Given the description of an element on the screen output the (x, y) to click on. 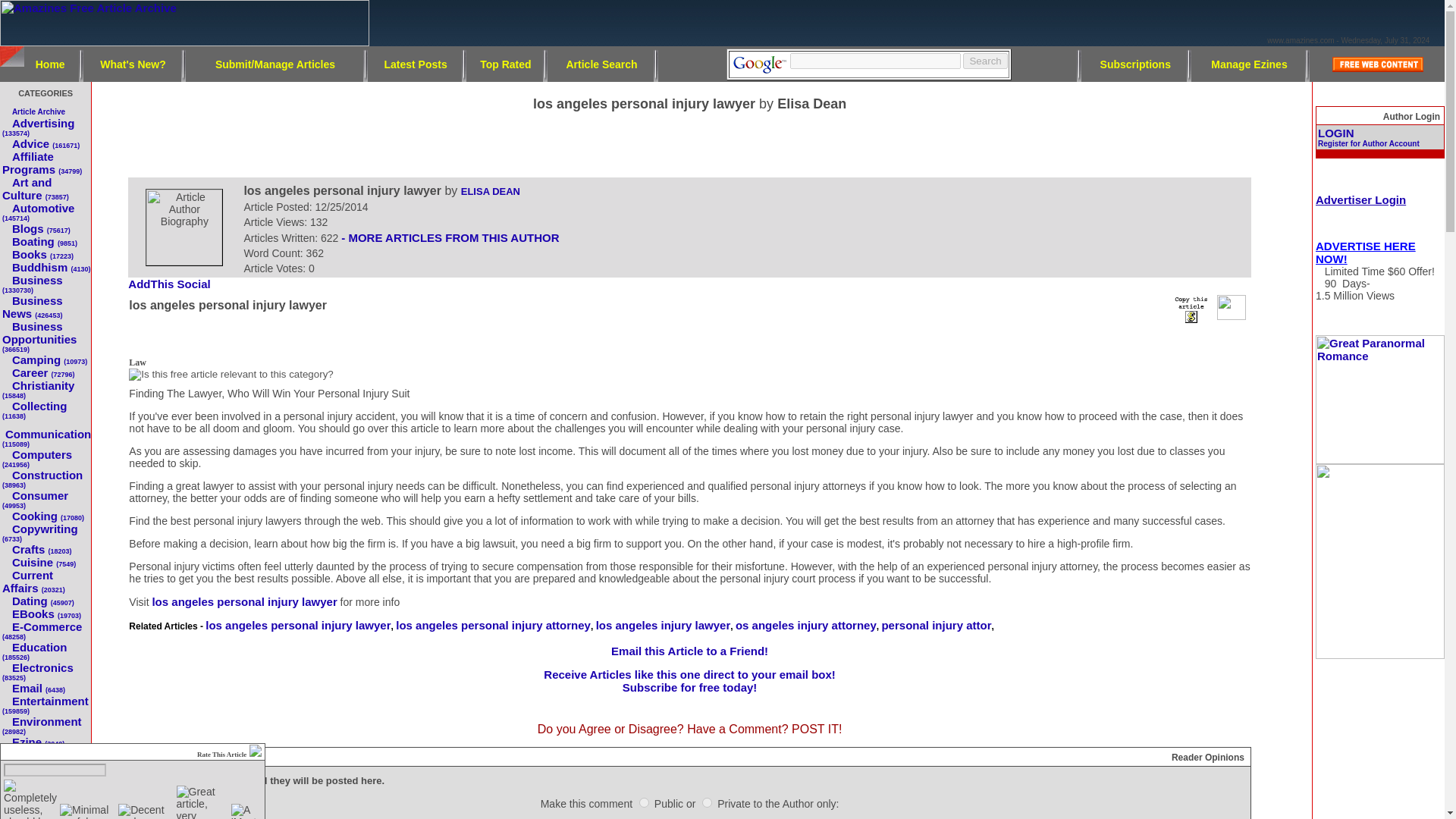
Manage Ezines (1249, 63)
Home (49, 63)
Bookmark using any bookmark manager! (175, 285)
Subscriptions (1135, 63)
Private (706, 802)
Article Search (601, 63)
Public (644, 802)
Top Rated (505, 63)
Search (984, 60)
Search (984, 60)
What's New? (132, 63)
Article Archive (38, 110)
Latest Posts (415, 63)
